Given the description of an element on the screen output the (x, y) to click on. 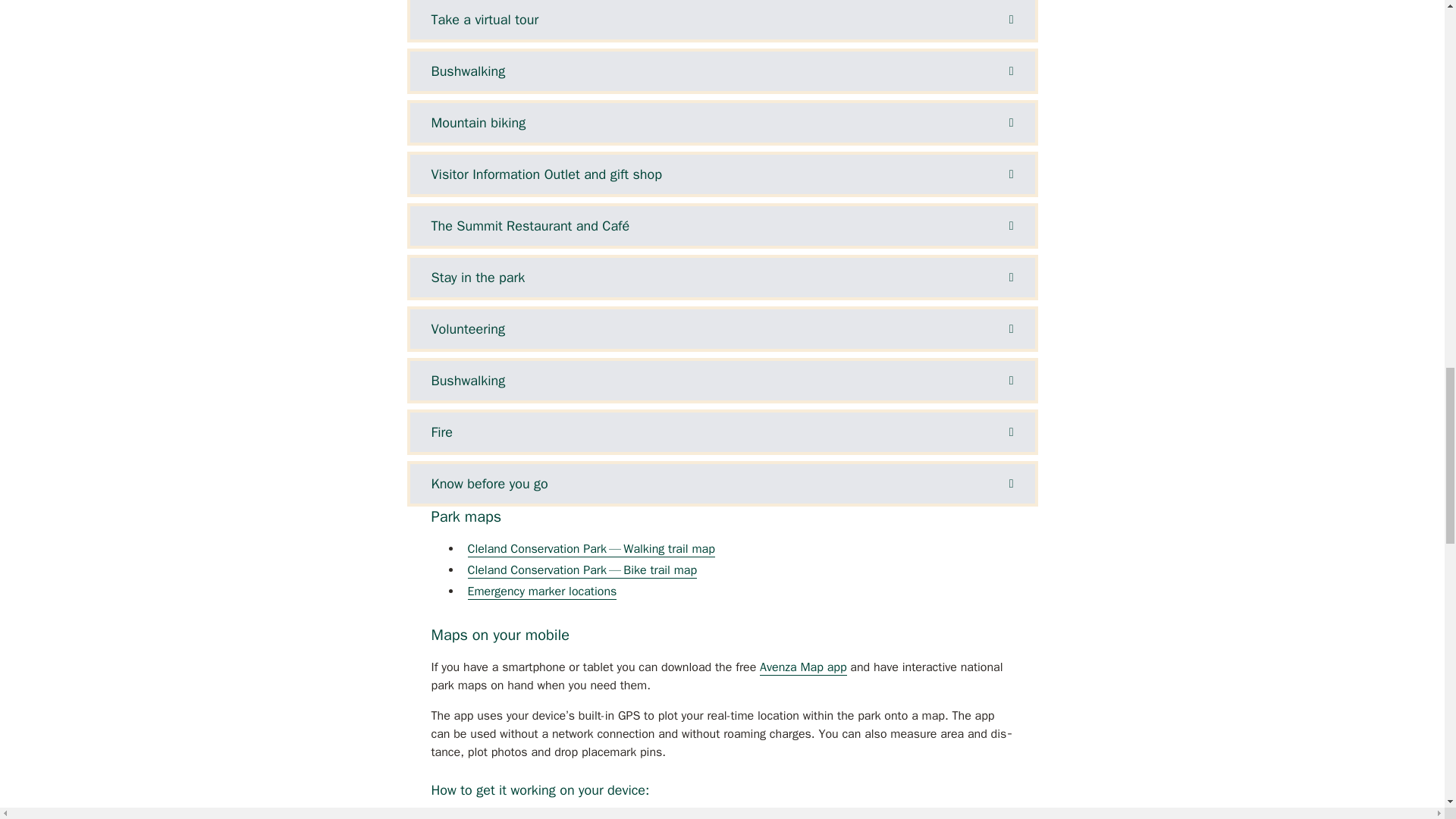
Cleland Conservation Park Walking Trails map (590, 549)
Cleland Conservation Park Emergency Marker Locations (541, 591)
Cleland Conservation Park Bike Trails map (582, 570)
